Given the description of an element on the screen output the (x, y) to click on. 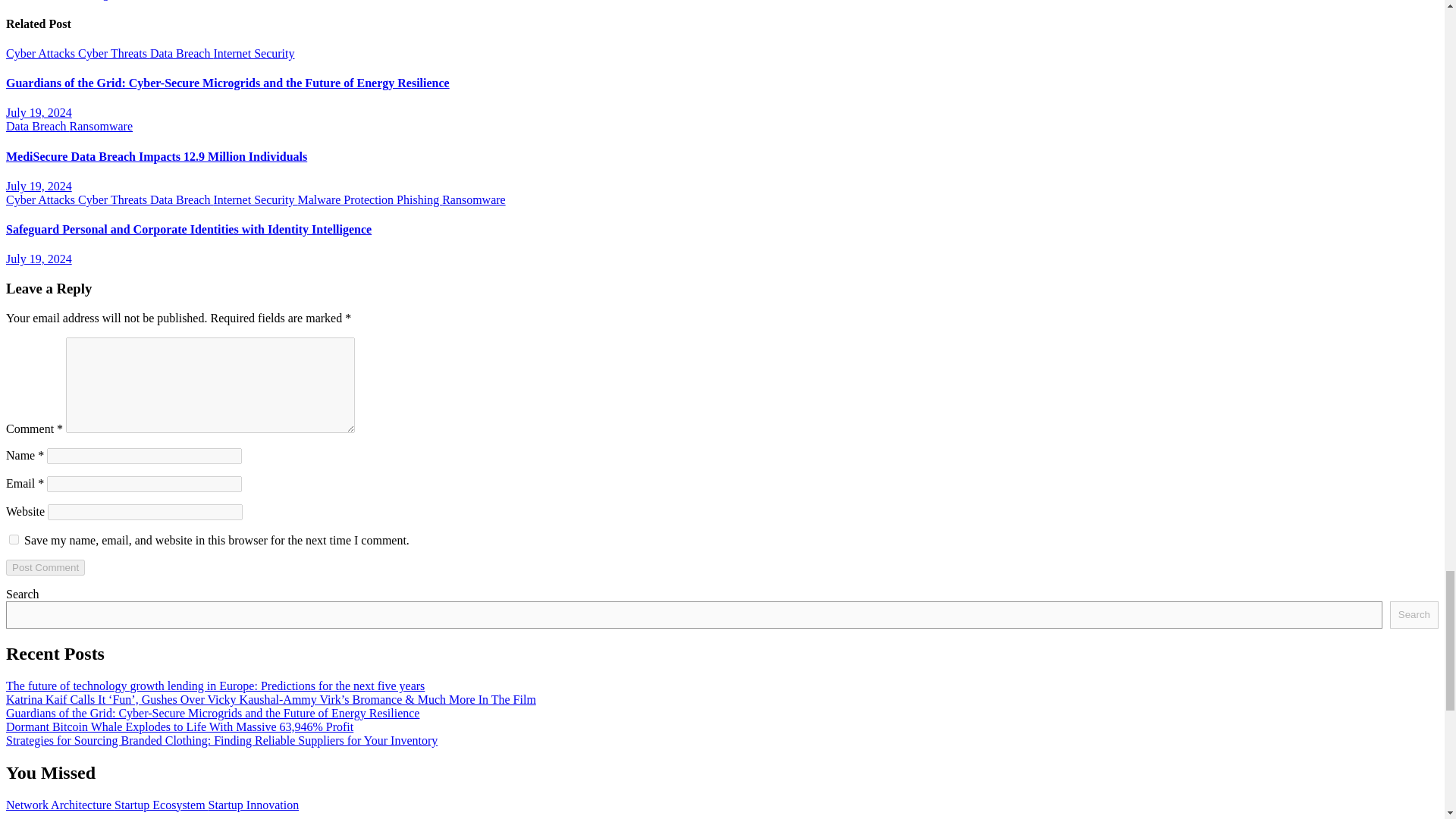
yes (13, 539)
Post Comment (44, 567)
